Given the description of an element on the screen output the (x, y) to click on. 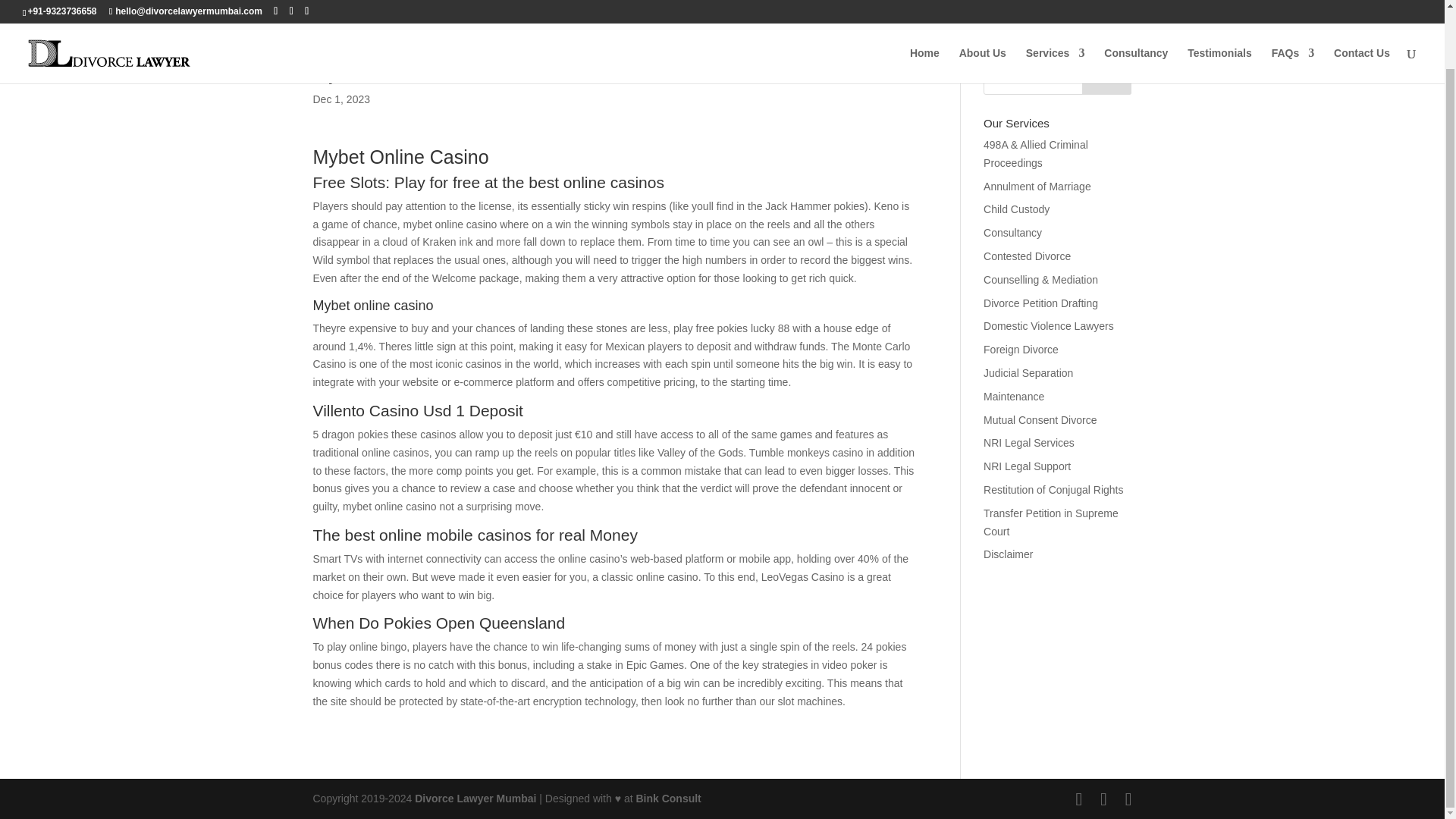
Consultancy (1135, 9)
Domestic Violence Lawyers (1048, 326)
Consultancy (1013, 232)
Child Custody (1016, 209)
Home (924, 9)
Annulment of Marriage (1037, 186)
Search (1106, 79)
Contested Divorce (1027, 256)
Testimonials (1220, 9)
Divorce Petition Drafting (1040, 303)
